Given the description of an element on the screen output the (x, y) to click on. 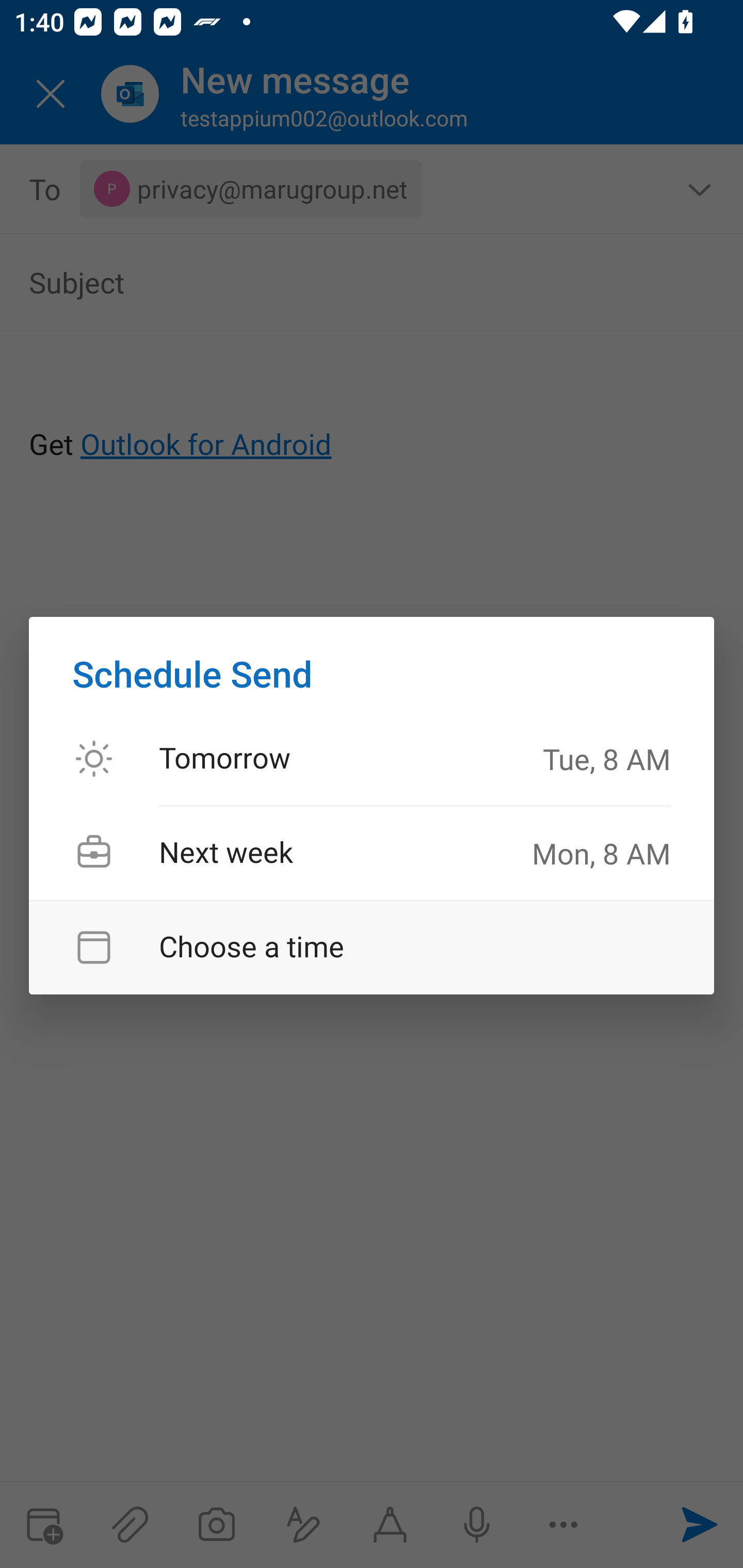
Option 1 Tomorrow Tue, 8 AM (371, 758)
Option 2 Next week Mon, 8 AM (371, 852)
Choose a time (371, 947)
